Given the description of an element on the screen output the (x, y) to click on. 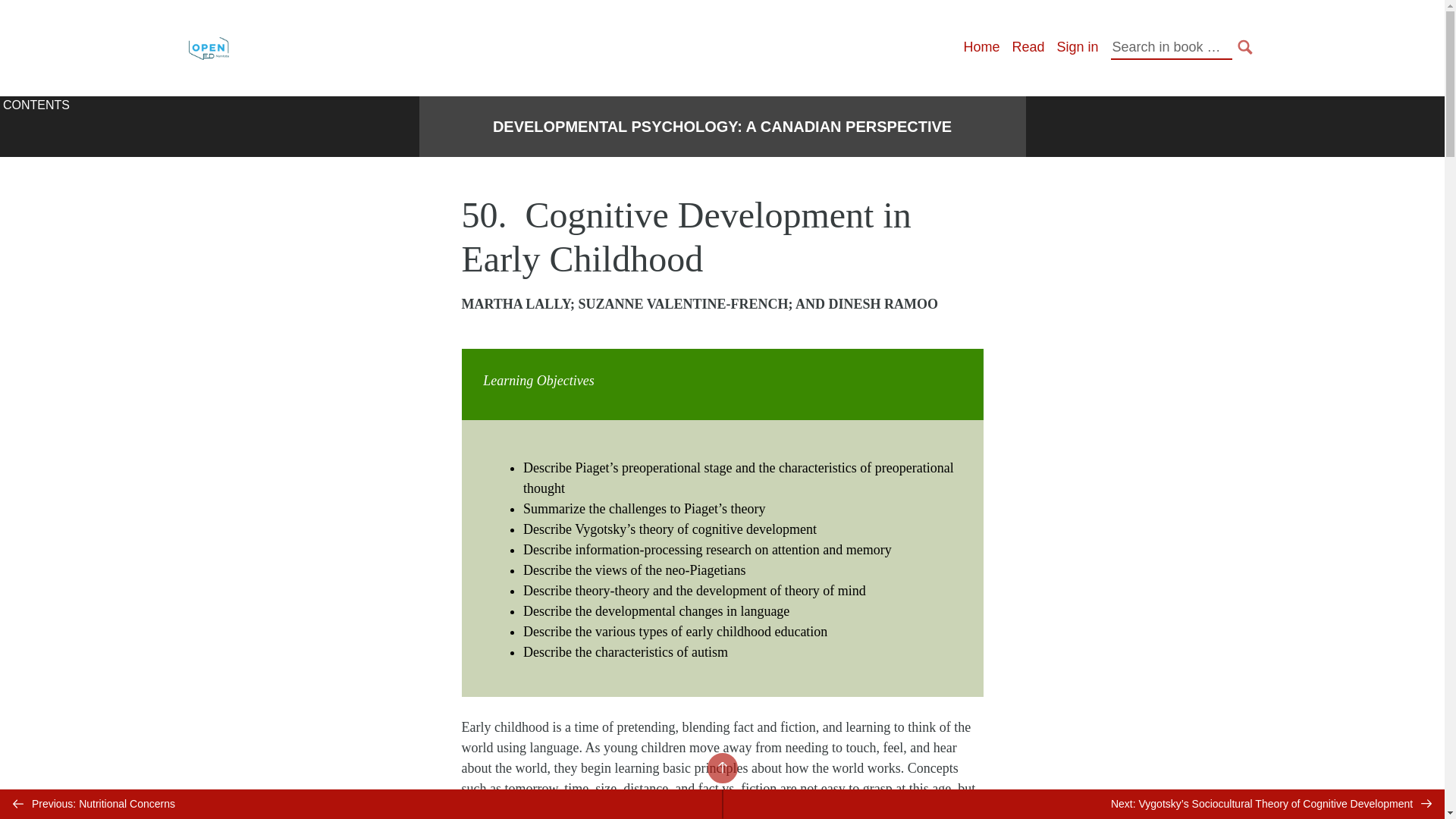
BACK TO TOP (721, 767)
DEVELOPMENTAL PSYCHOLOGY: A CANADIAN PERSPECTIVE (722, 126)
Read (1027, 46)
Previous: Nutritional Concerns (361, 804)
Previous: Nutritional Concerns (361, 804)
Home (980, 46)
Sign in (1077, 46)
